Given the description of an element on the screen output the (x, y) to click on. 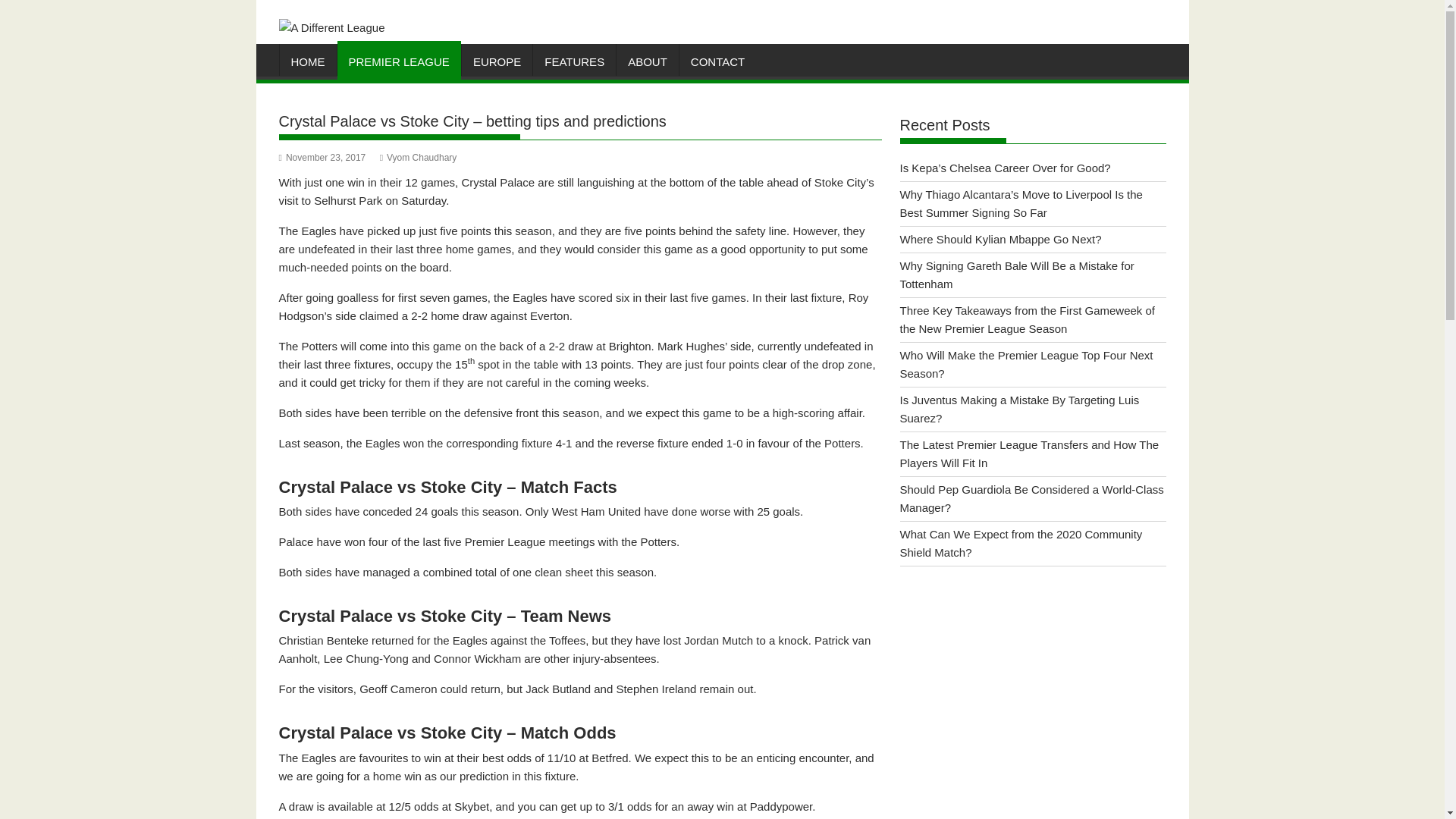
ABOUT (646, 62)
EUROPE (496, 62)
Vyom Chaudhary (418, 157)
FEATURES (573, 62)
November 23, 2017 (322, 157)
HOME (307, 62)
CONTACT (717, 62)
PREMIER LEAGUE (398, 62)
